Given the description of an element on the screen output the (x, y) to click on. 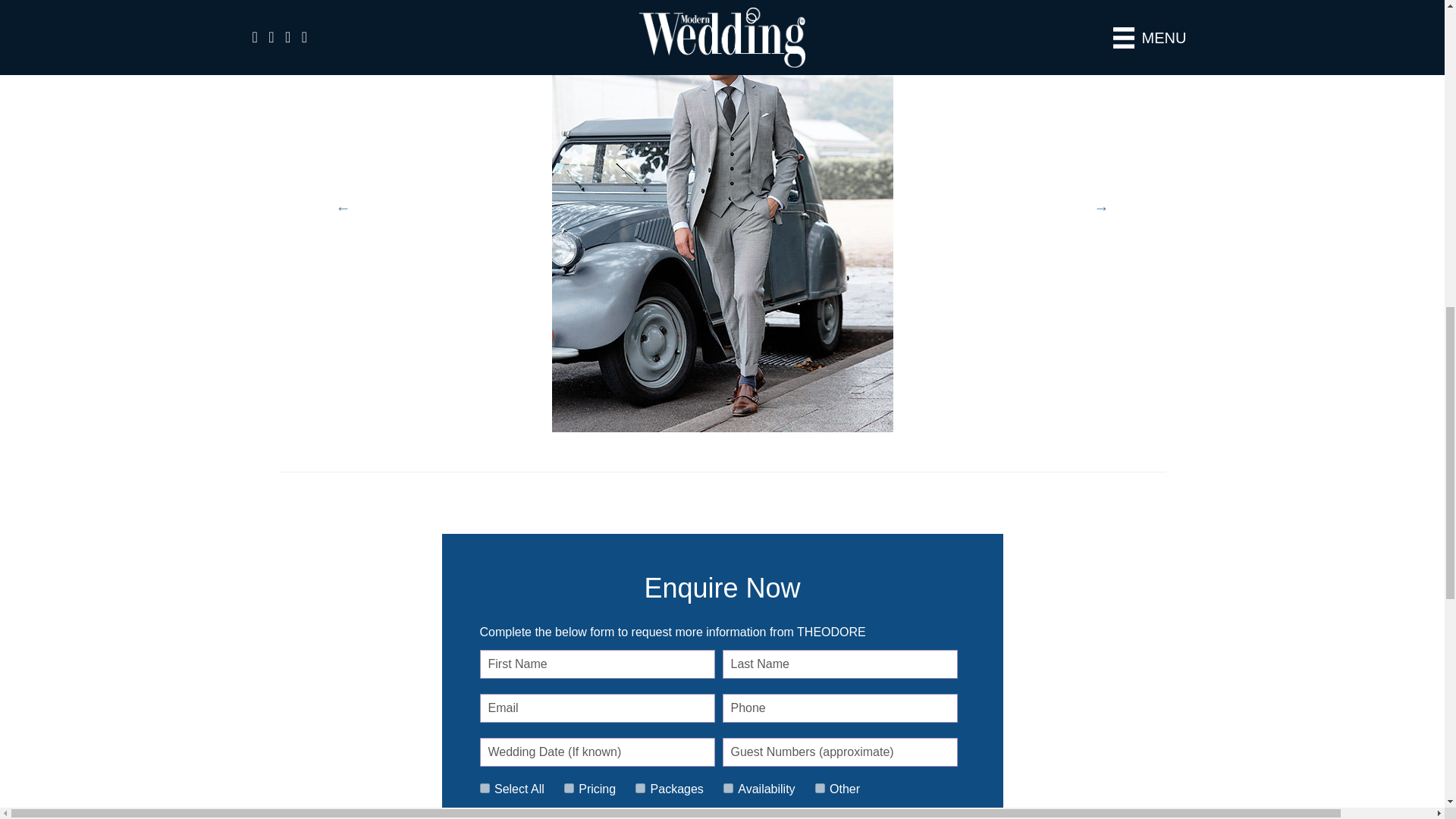
Pricing (568, 787)
on (484, 787)
Packages (639, 787)
Other (820, 787)
Availability (728, 787)
